Given the description of an element on the screen output the (x, y) to click on. 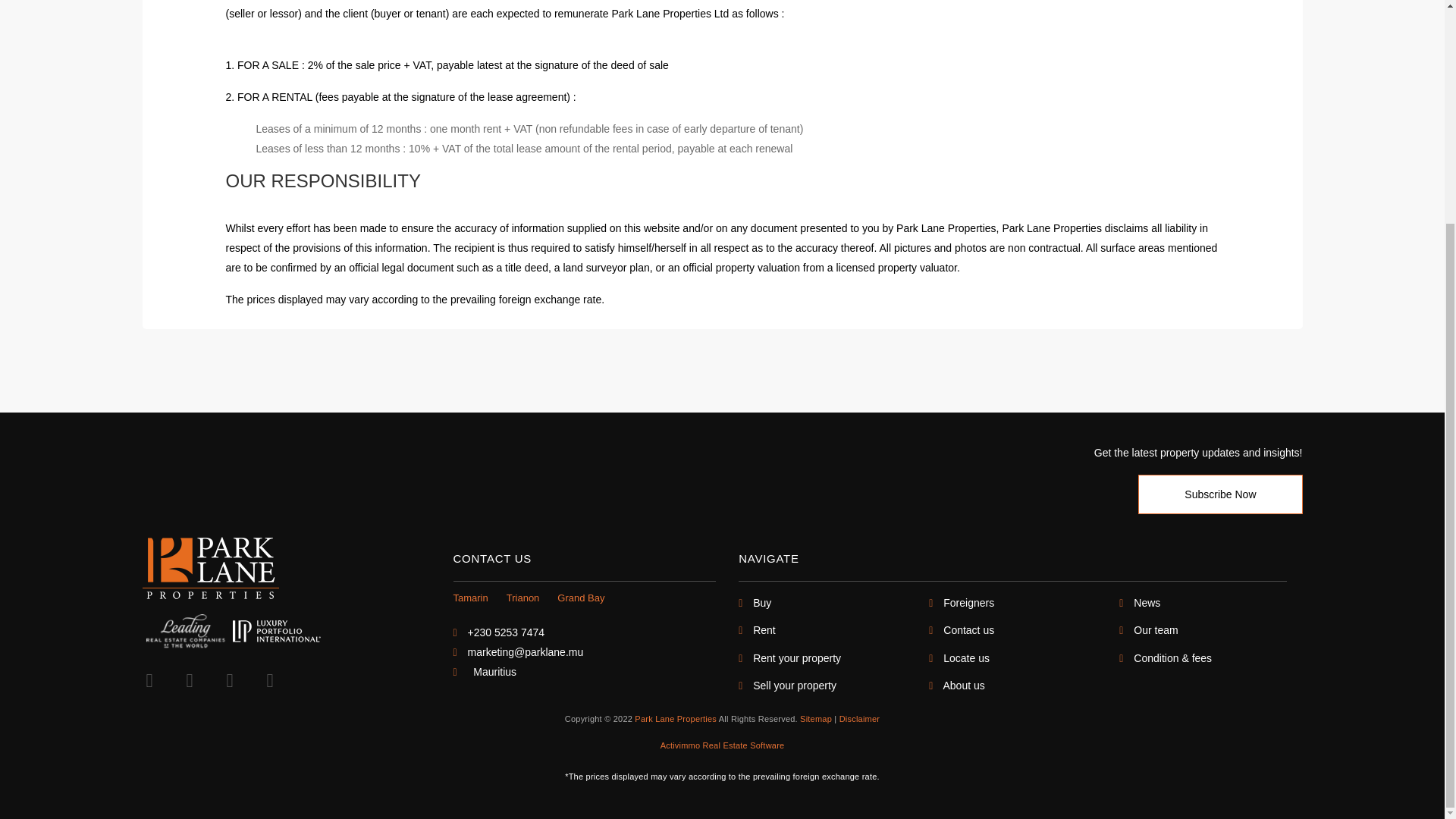
Subscribe Now (1219, 494)
